Given the description of an element on the screen output the (x, y) to click on. 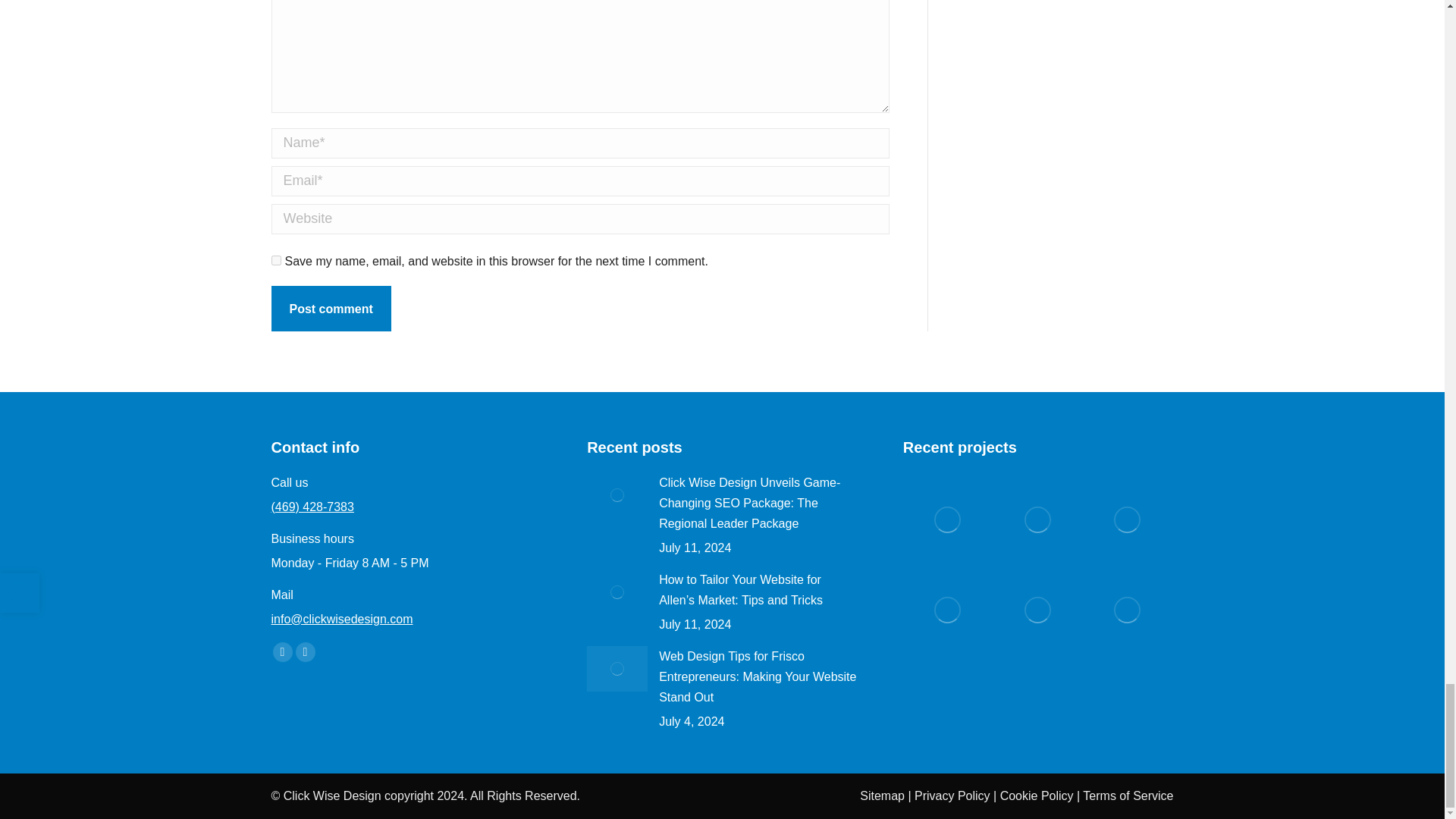
yes (275, 260)
